Given the description of an element on the screen output the (x, y) to click on. 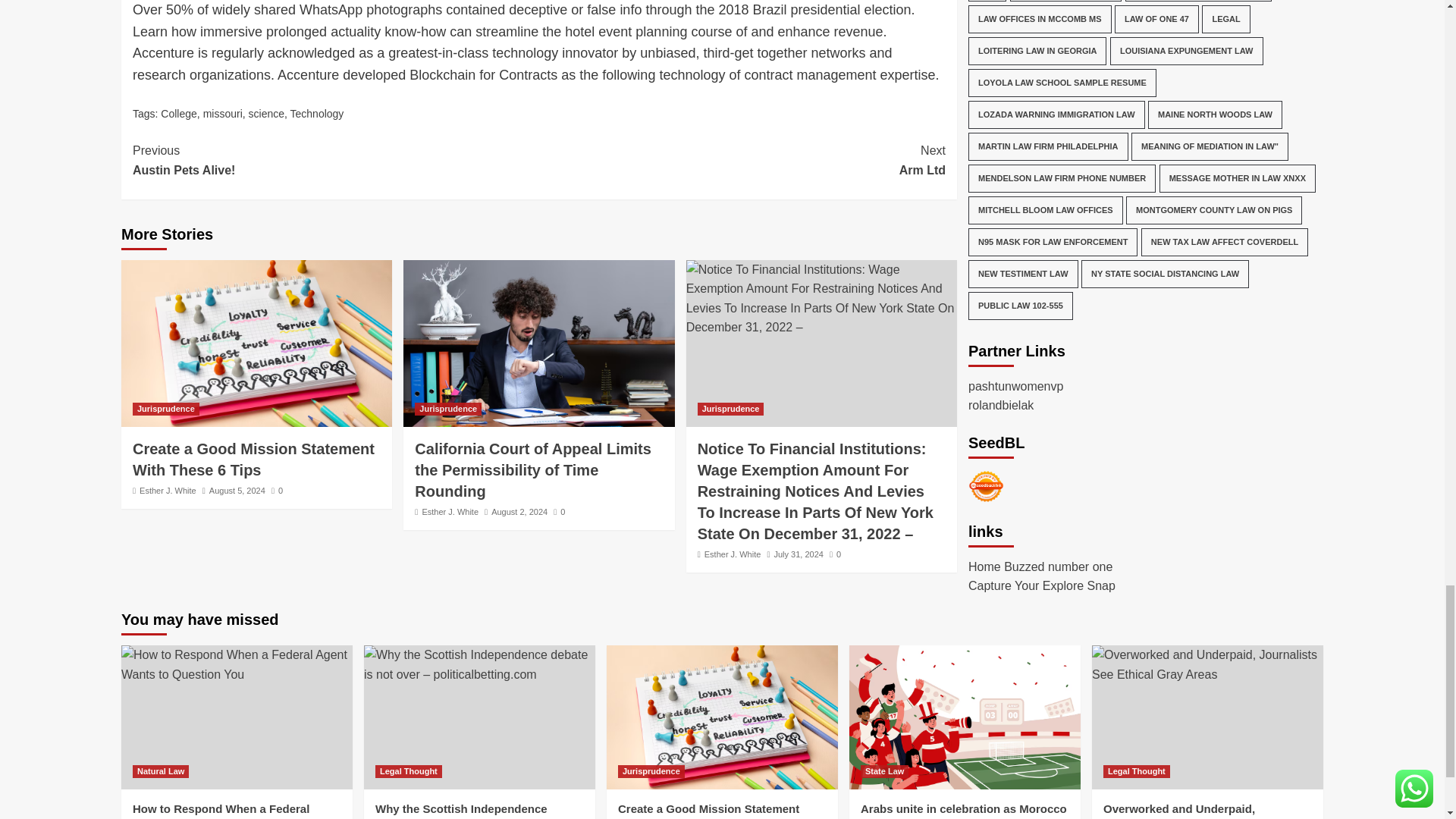
Create a Good Mission Statement With These 6 Tips (255, 343)
science (265, 113)
missouri (223, 113)
College (178, 113)
Technology (316, 113)
